Given the description of an element on the screen output the (x, y) to click on. 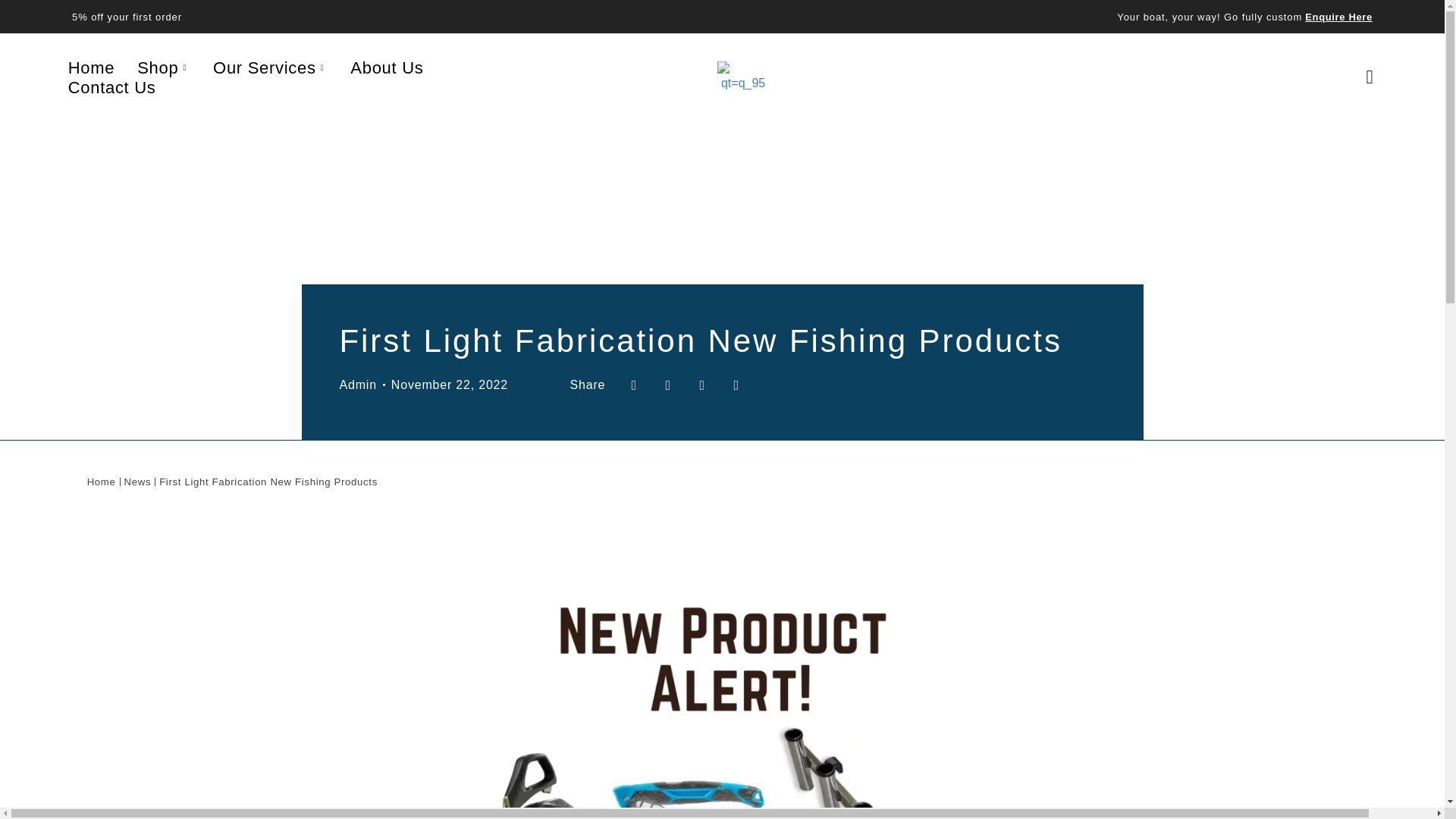
Our Services (270, 67)
Contact Us (111, 87)
Enquire Here (1338, 17)
About Us (386, 67)
First Light Fabrication New Fishing Products (267, 481)
News (137, 481)
Shop (163, 67)
November 22, 2022 (449, 384)
Home (91, 67)
